Given the description of an element on the screen output the (x, y) to click on. 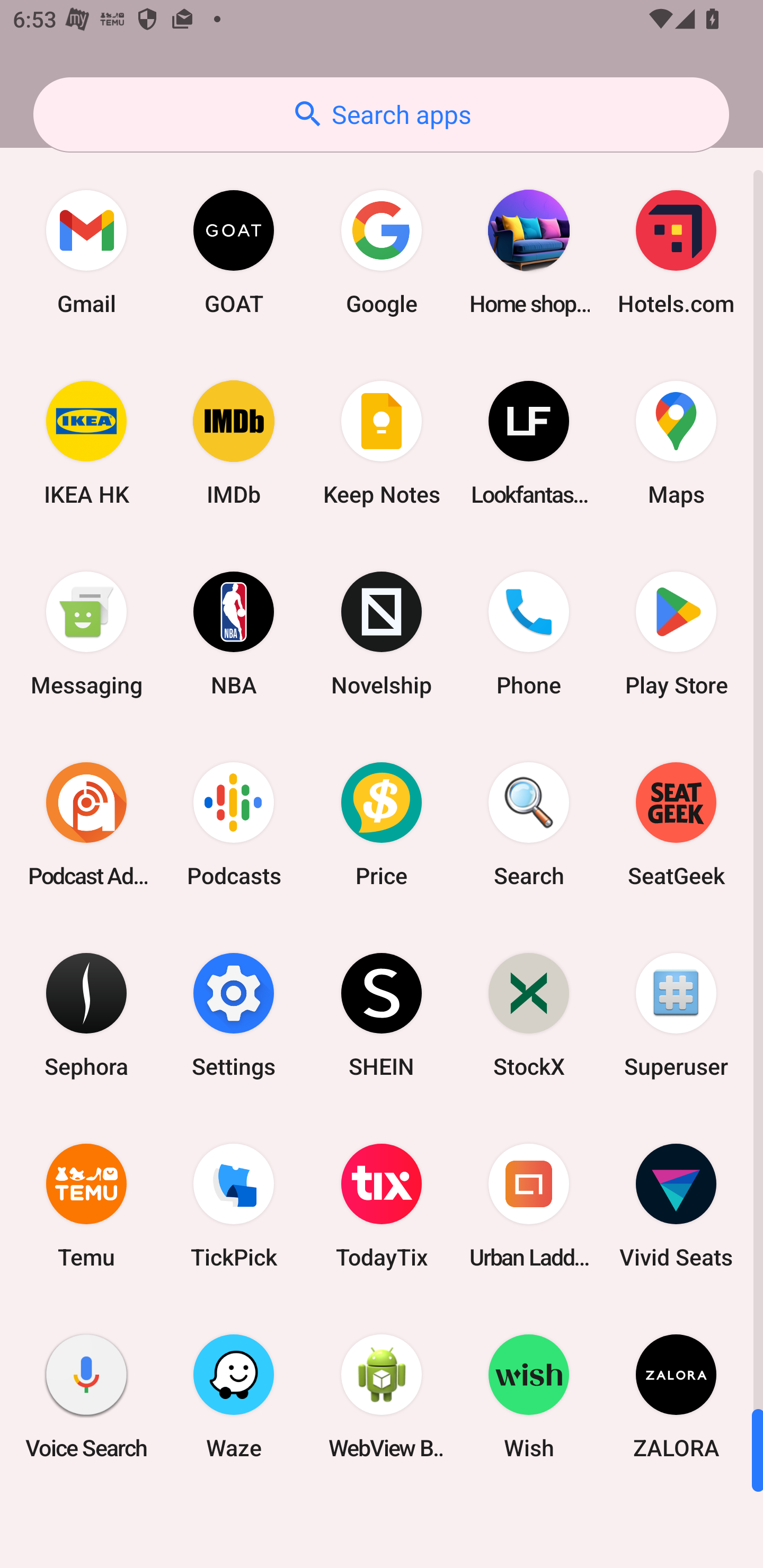
  Search apps (381, 114)
Gmail (86, 252)
GOAT (233, 252)
Google (381, 252)
Home shopping (528, 252)
Hotels.com (676, 252)
IKEA HK (86, 442)
IMDb (233, 442)
Keep Notes (381, 442)
Lookfantastic (528, 442)
Maps (676, 442)
Messaging (86, 633)
NBA (233, 633)
Novelship (381, 633)
Phone (528, 633)
Play Store (676, 633)
Podcast Addict (86, 823)
Podcasts (233, 823)
Price (381, 823)
Search (528, 823)
SeatGeek (676, 823)
Sephora (86, 1014)
Settings (233, 1014)
SHEIN (381, 1014)
StockX (528, 1014)
Superuser (676, 1014)
Temu (86, 1205)
TickPick (233, 1205)
TodayTix (381, 1205)
Urban Ladder (528, 1205)
Vivid Seats (676, 1205)
Voice Search (86, 1396)
Waze (233, 1396)
WebView Browser Tester (381, 1396)
Wish (528, 1396)
ZALORA (676, 1396)
